Given the description of an element on the screen output the (x, y) to click on. 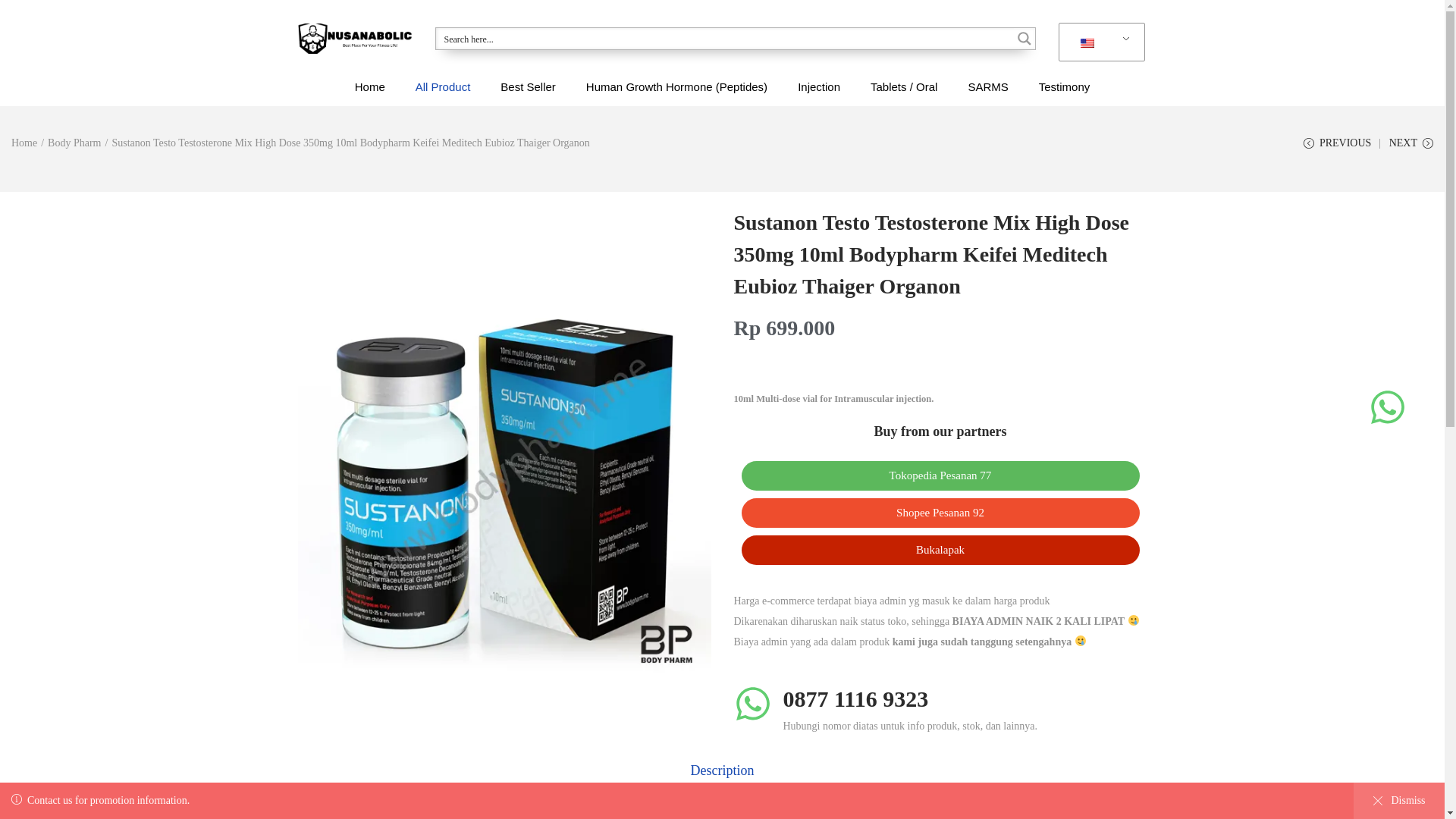
Body Pharm (74, 142)
English (1087, 42)
SARMS (987, 86)
Best Seller (528, 86)
NEXT (1410, 148)
Home (24, 142)
Injection (818, 86)
Home (370, 86)
PREVIOUS (1337, 148)
Shopee Pesanan 92 (940, 512)
Testimony (1064, 86)
All Product (442, 86)
Tokopedia Pesanan 77 (940, 475)
English (1098, 42)
